Given the description of an element on the screen output the (x, y) to click on. 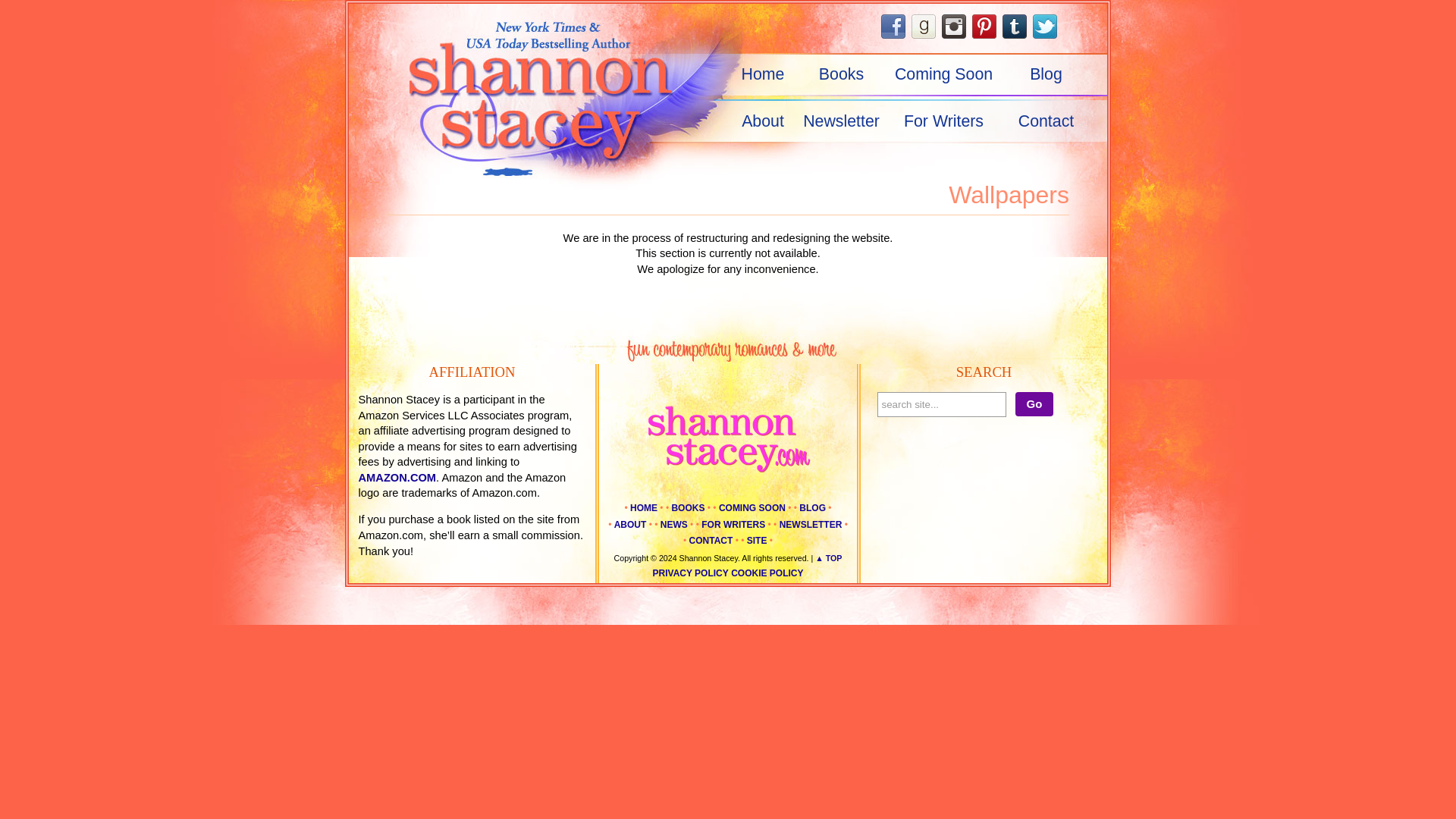
HOME (644, 507)
search site... (941, 404)
COMING SOON (752, 507)
BLOG (812, 507)
Blog (1045, 74)
Go (1033, 404)
Contact (1045, 120)
Cookie Policy (766, 573)
FOR WRITERS (733, 524)
For Writers (943, 120)
COOKIE POLICY (766, 573)
Go (1033, 404)
Home (759, 74)
ABOUT (630, 524)
SITE (756, 540)
